Given the description of an element on the screen output the (x, y) to click on. 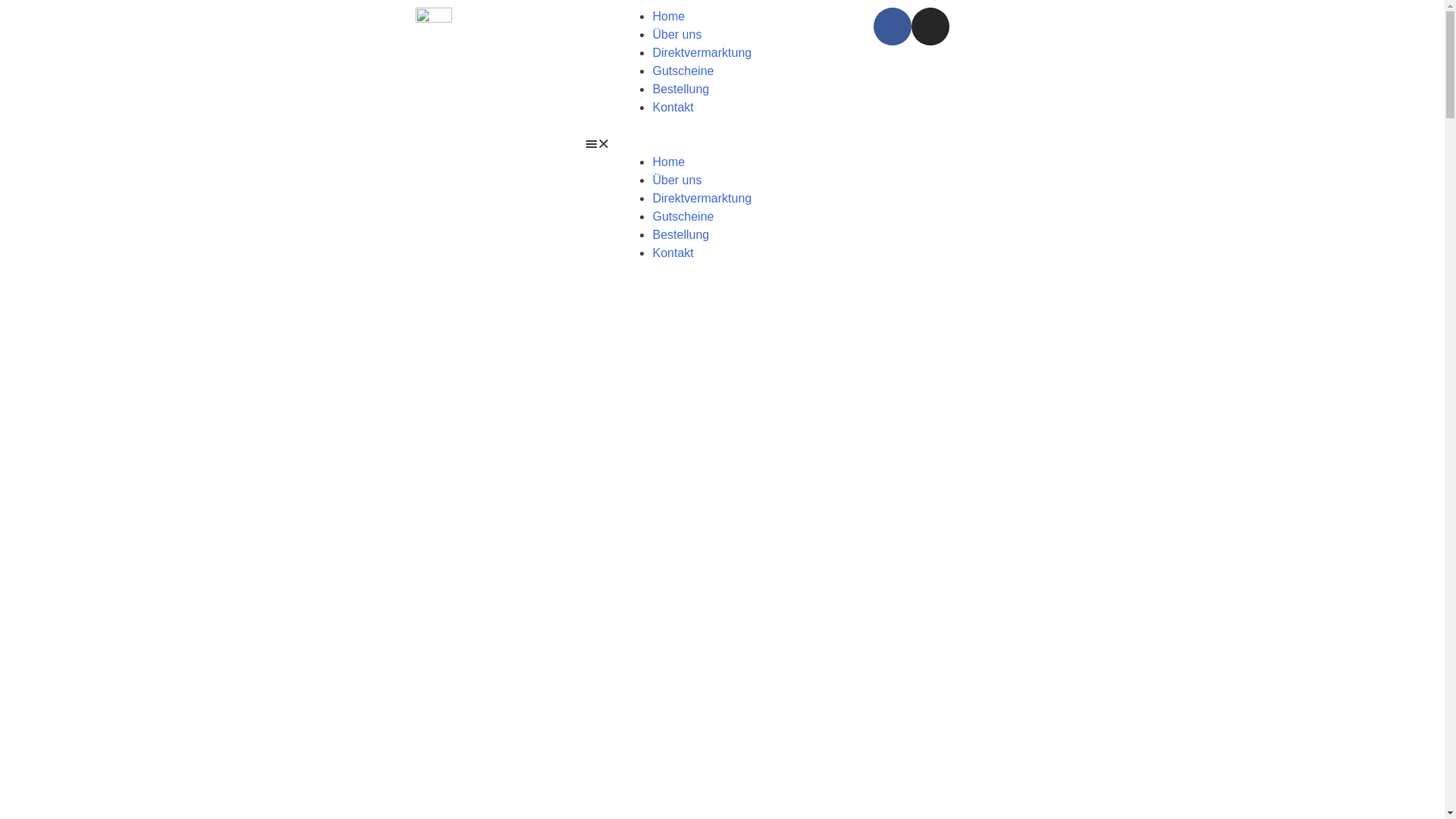
Direktvermarktung Element type: text (701, 52)
Gutscheine Element type: text (682, 216)
Home Element type: text (668, 15)
Gutscheine Element type: text (682, 70)
Kontakt Element type: text (672, 252)
Direktvermarktung Element type: text (701, 197)
Home Element type: text (668, 161)
Kontakt Element type: text (672, 106)
Bestellung Element type: text (680, 88)
Bestellung Element type: text (680, 234)
